Given the description of an element on the screen output the (x, y) to click on. 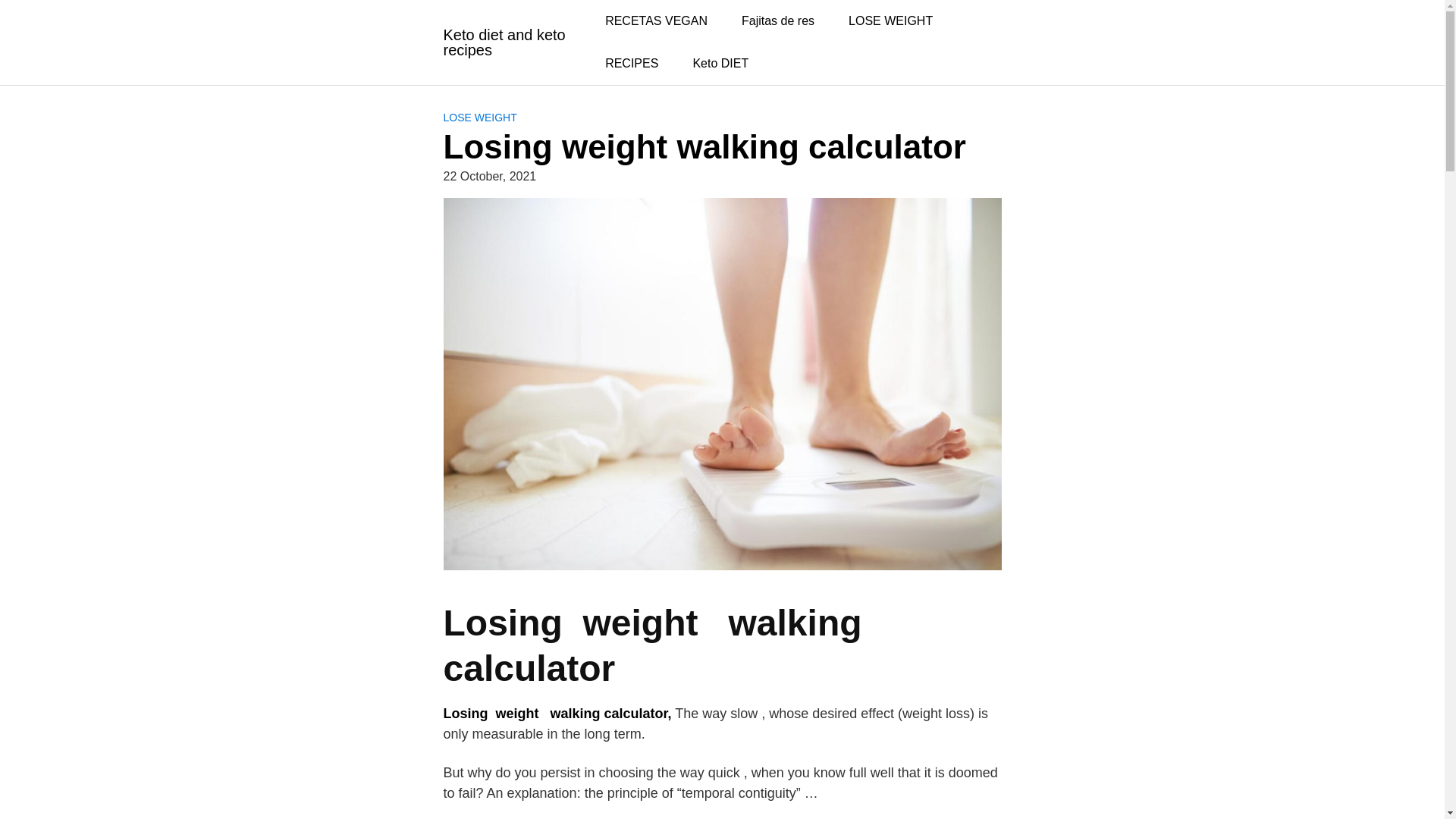
RECETAS VEGAN (655, 21)
LOSE WEIGHT (889, 21)
Keto diet and keto recipes (510, 42)
Keto DIET (719, 63)
LOSE WEIGHT (479, 117)
RECIPES (630, 63)
Fajitas de res (777, 21)
